Given the description of an element on the screen output the (x, y) to click on. 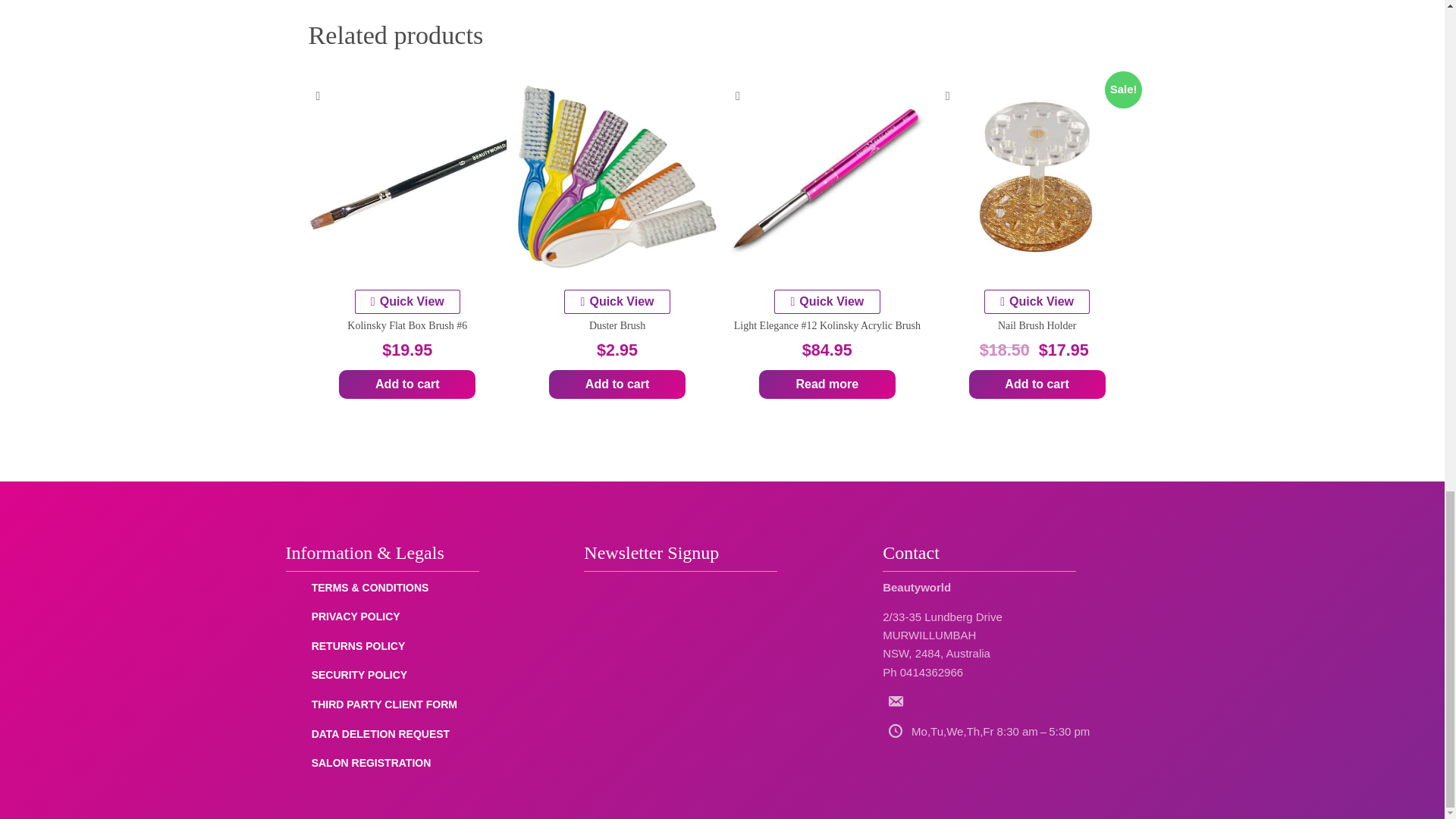
Duster Brush (617, 176)
Nail Brush Holder (1037, 176)
